Given the description of an element on the screen output the (x, y) to click on. 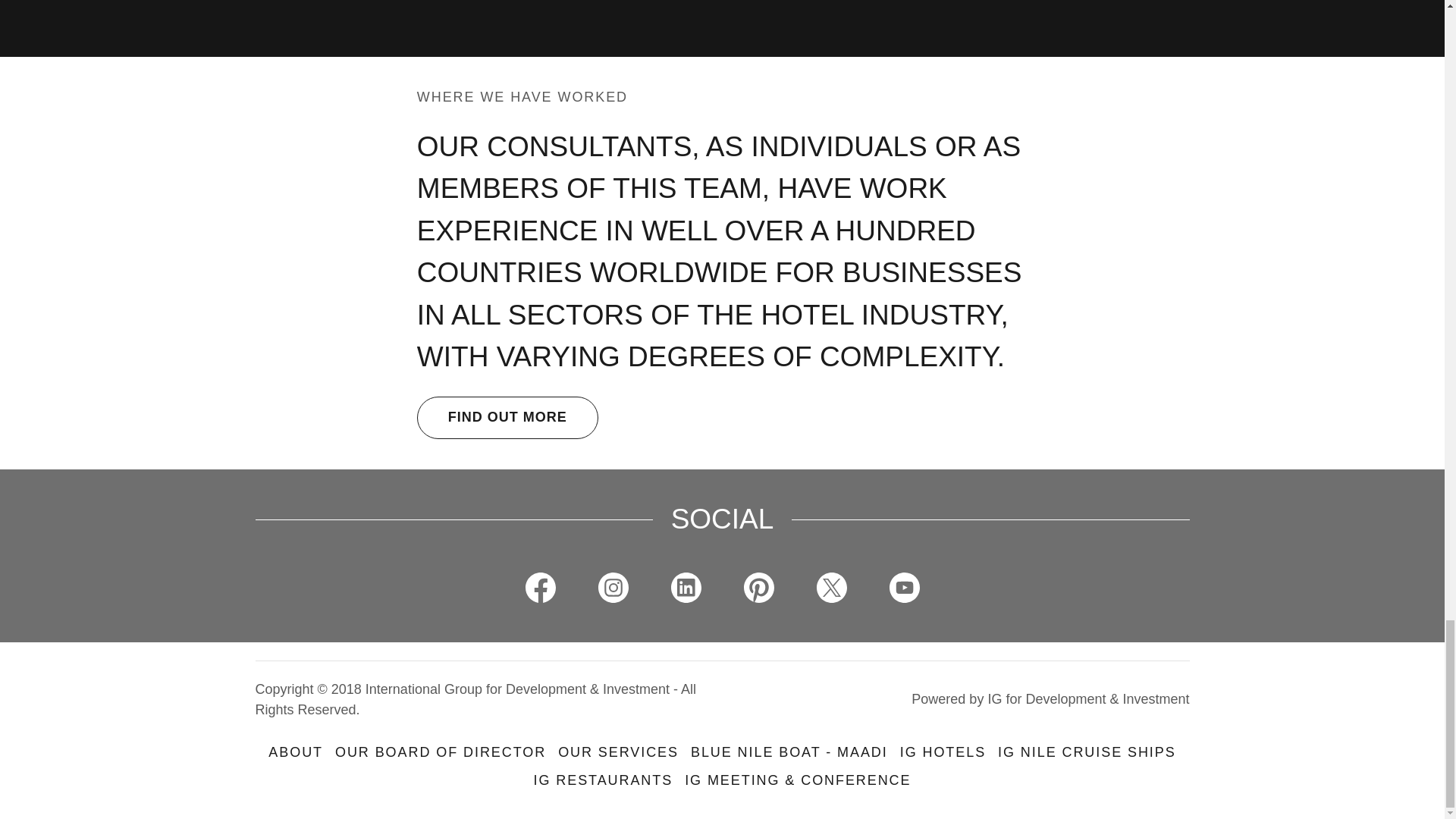
BLUE NILE BOAT - MAADI (788, 752)
OUR BOARD OF DIRECTOR (440, 752)
IG HOTELS (942, 752)
IG NILE CRUISE SHIPS (1086, 752)
FIND OUT MORE (507, 417)
OUR SERVICES (617, 752)
ABOUT (295, 752)
